Given the description of an element on the screen output the (x, y) to click on. 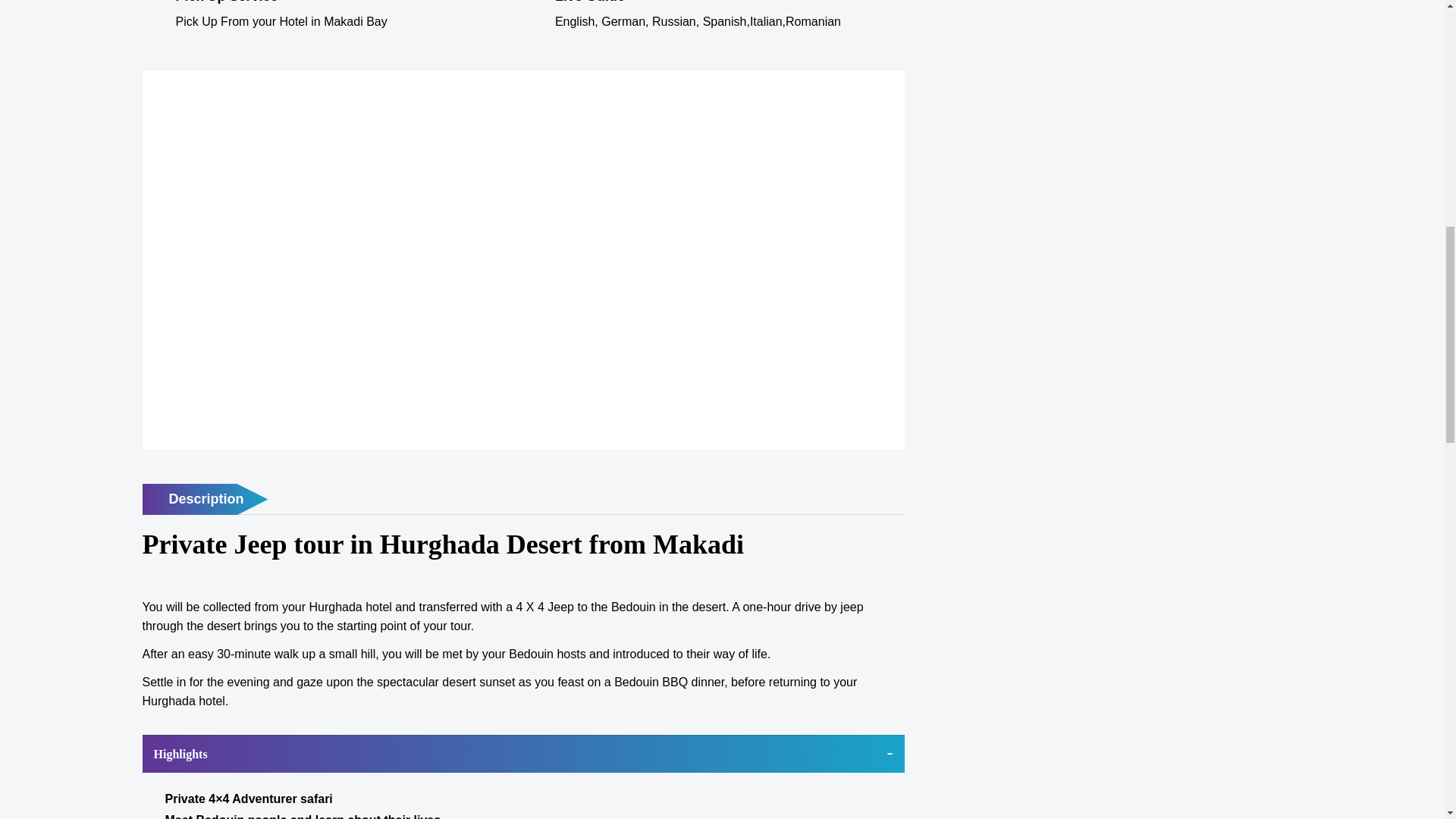
Highlights (523, 753)
Description (204, 499)
